Given the description of an element on the screen output the (x, y) to click on. 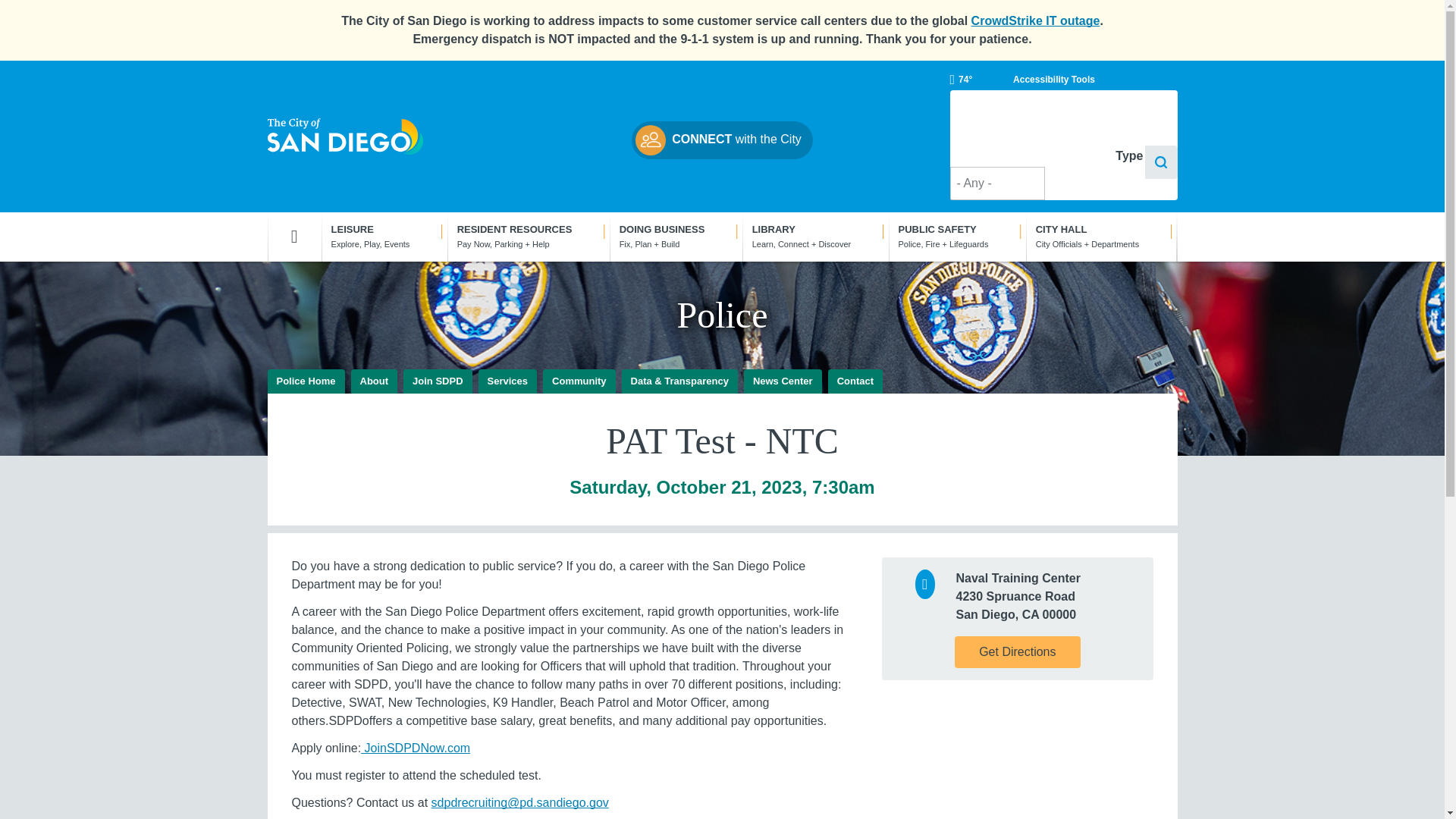
LEISURE (383, 236)
Search (1160, 162)
RESIDENT RESOURCES (528, 236)
Mostly Cloudy (960, 79)
Search (1160, 162)
CrowdStrike IT outage (1035, 20)
Explore, Play, Events (383, 236)
Accessibility Tools (1053, 79)
CONNECT with the City (721, 139)
